Given the description of an element on the screen output the (x, y) to click on. 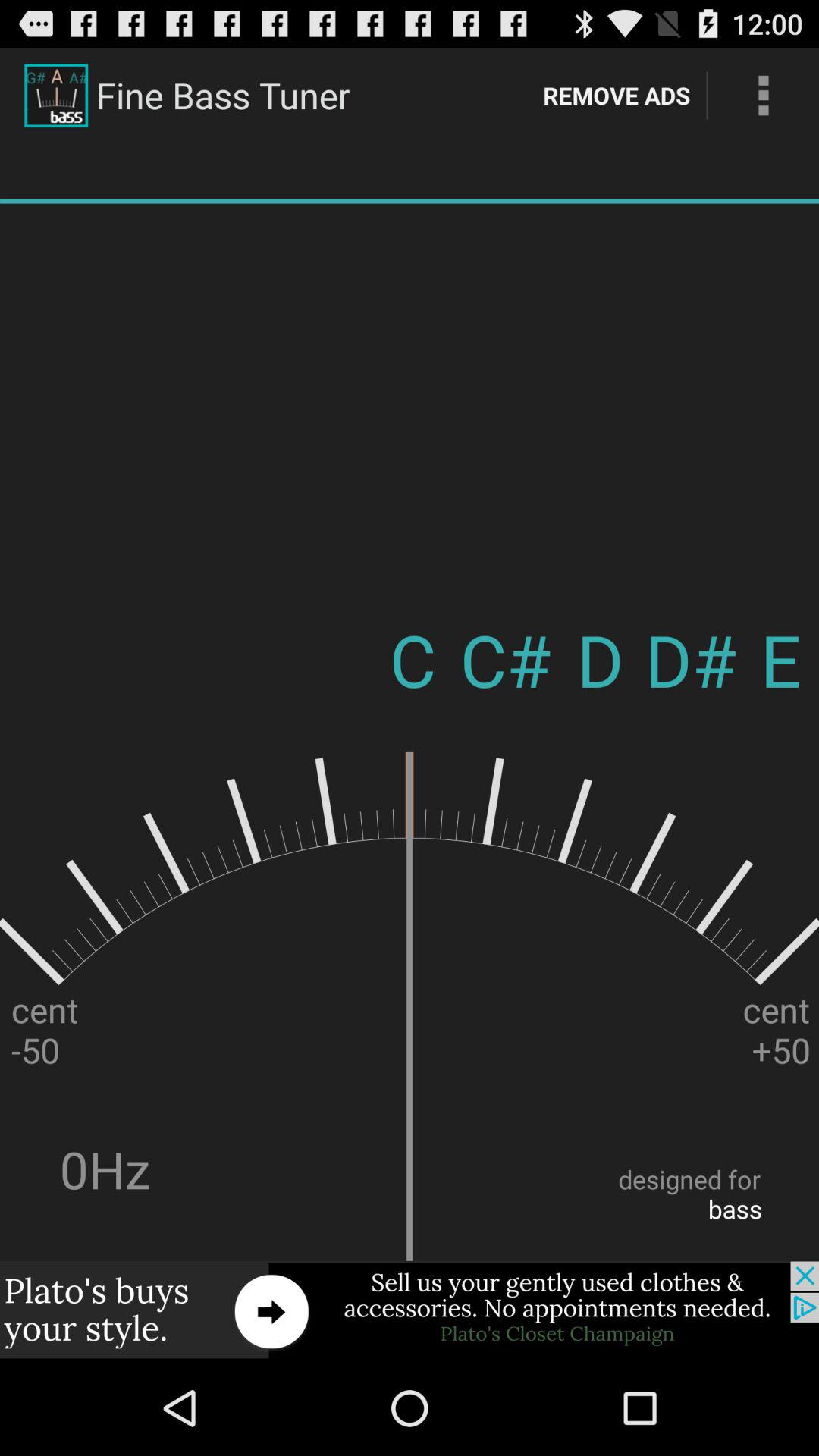
advertisement (409, 1310)
